Given the description of an element on the screen output the (x, y) to click on. 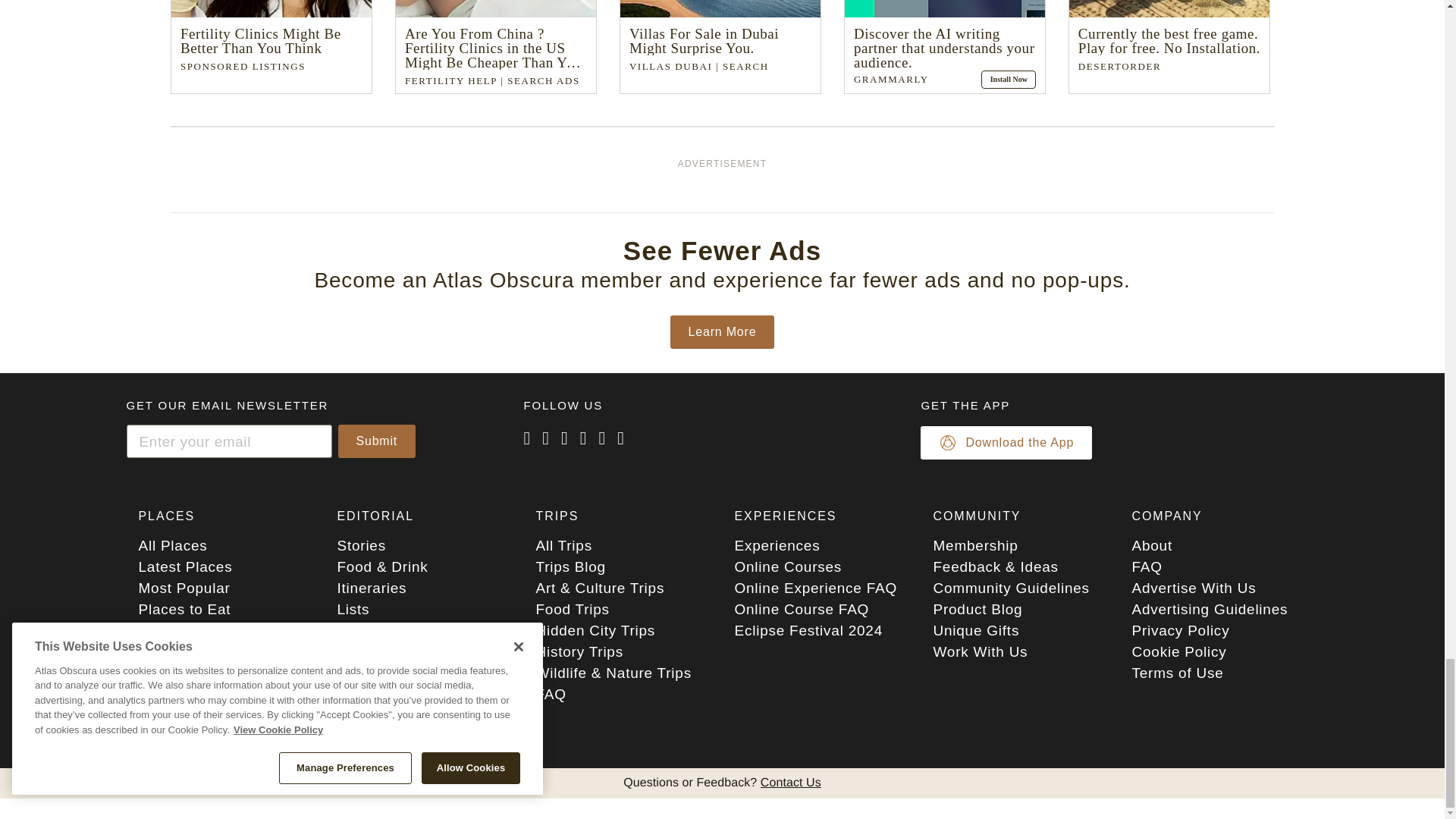
Submit (376, 441)
